Given the description of an element on the screen output the (x, y) to click on. 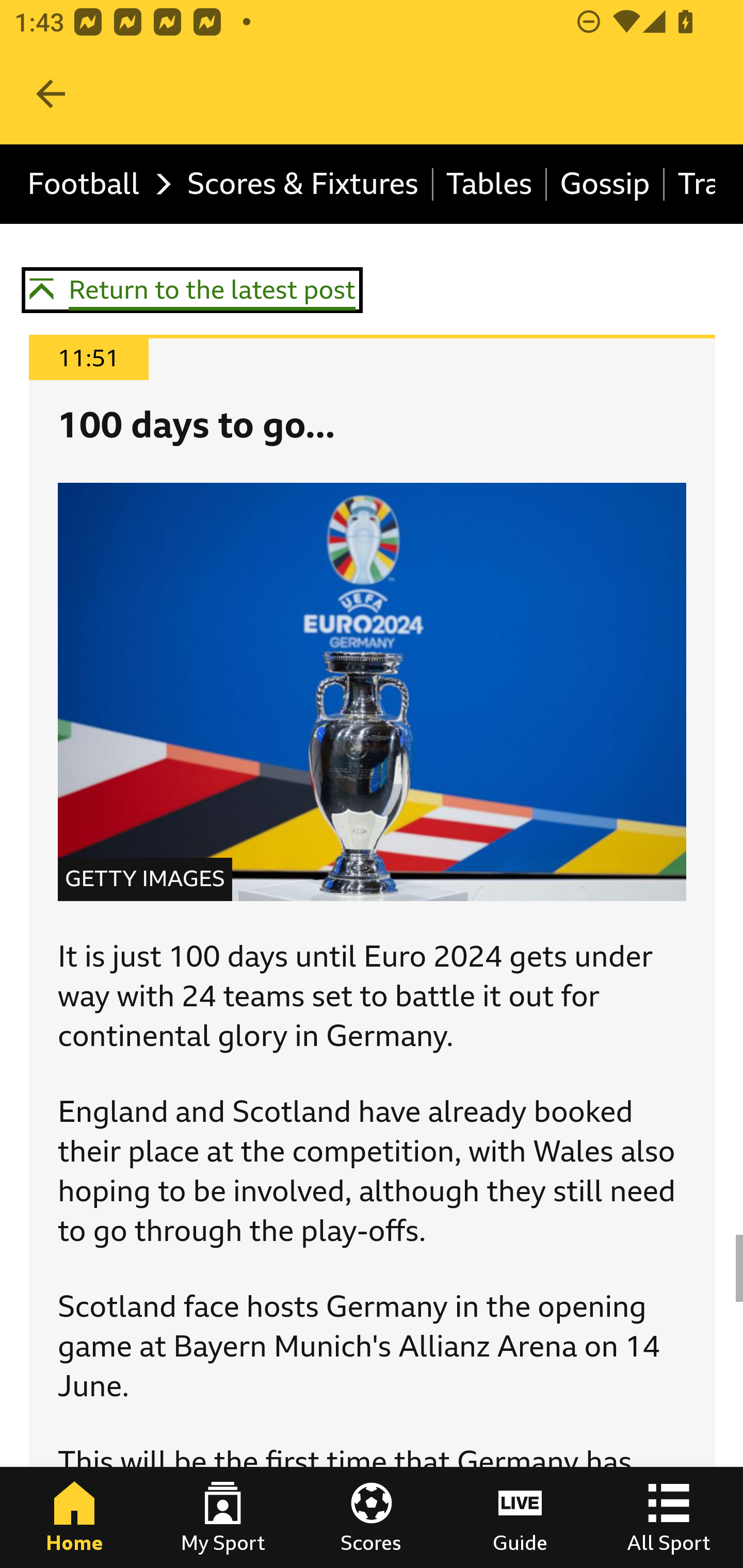
Navigate up (50, 93)
My Sport (222, 1517)
Scores (371, 1517)
Guide (519, 1517)
All Sport (668, 1517)
